Given the description of an element on the screen output the (x, y) to click on. 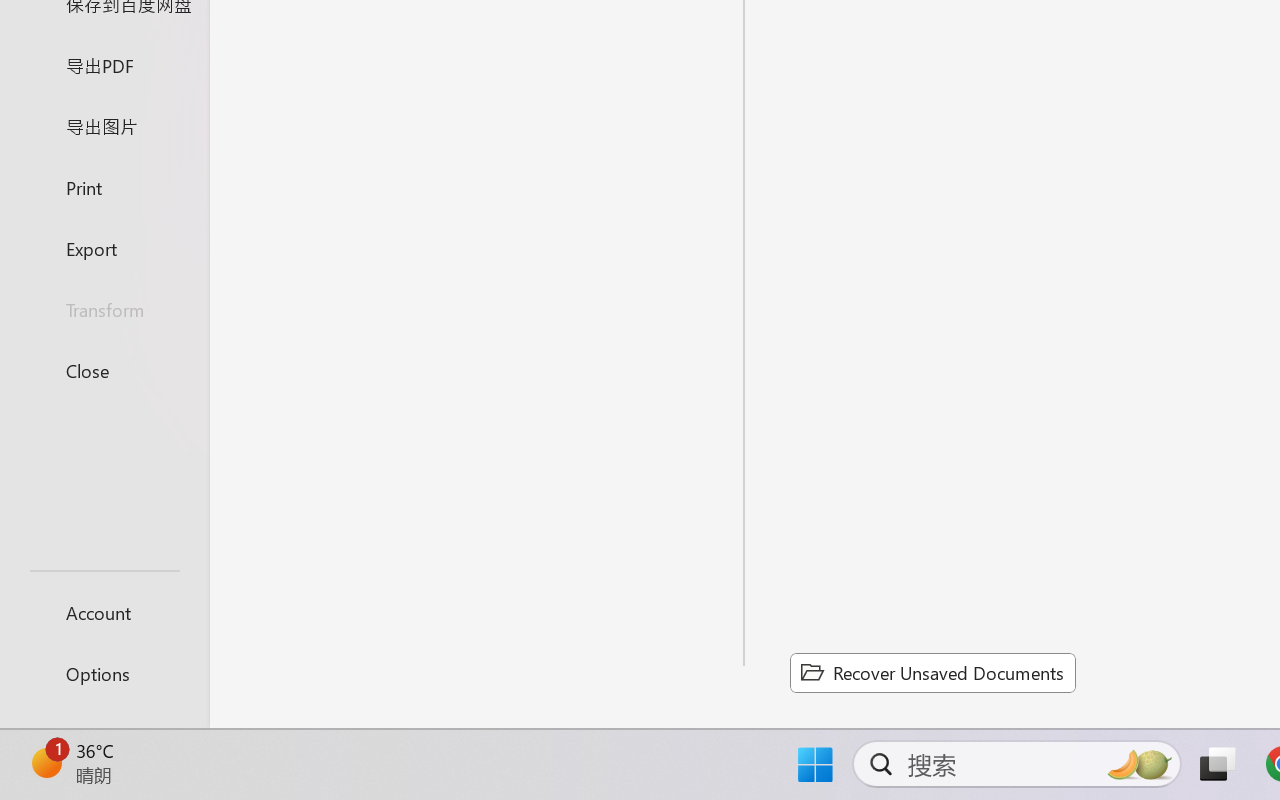
Print (104, 186)
Account (104, 612)
Transform (104, 309)
Recover Unsaved Documents (932, 672)
Options (104, 673)
Export (104, 248)
